Given the description of an element on the screen output the (x, y) to click on. 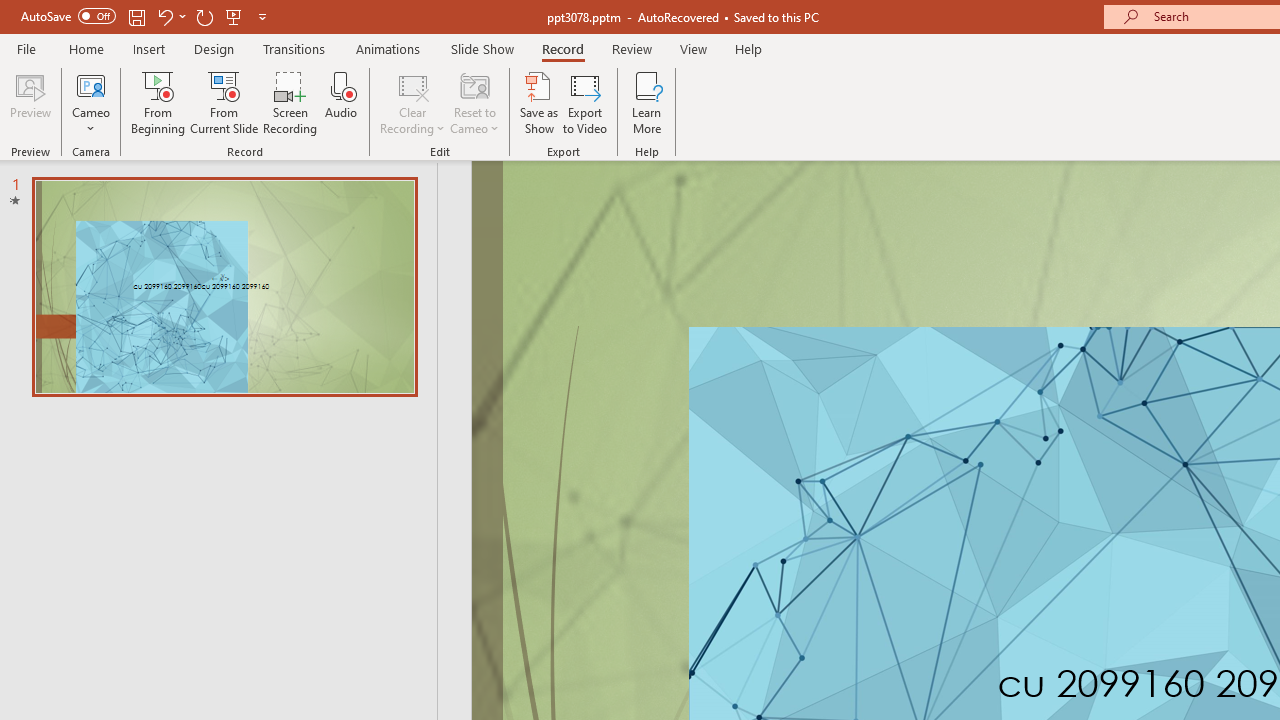
Learn More (646, 102)
Clear Recording (412, 102)
Save as Show (539, 102)
Reset to Cameo (474, 102)
Screen Recording (290, 102)
From Beginning... (158, 102)
Cameo (91, 102)
